Given the description of an element on the screen output the (x, y) to click on. 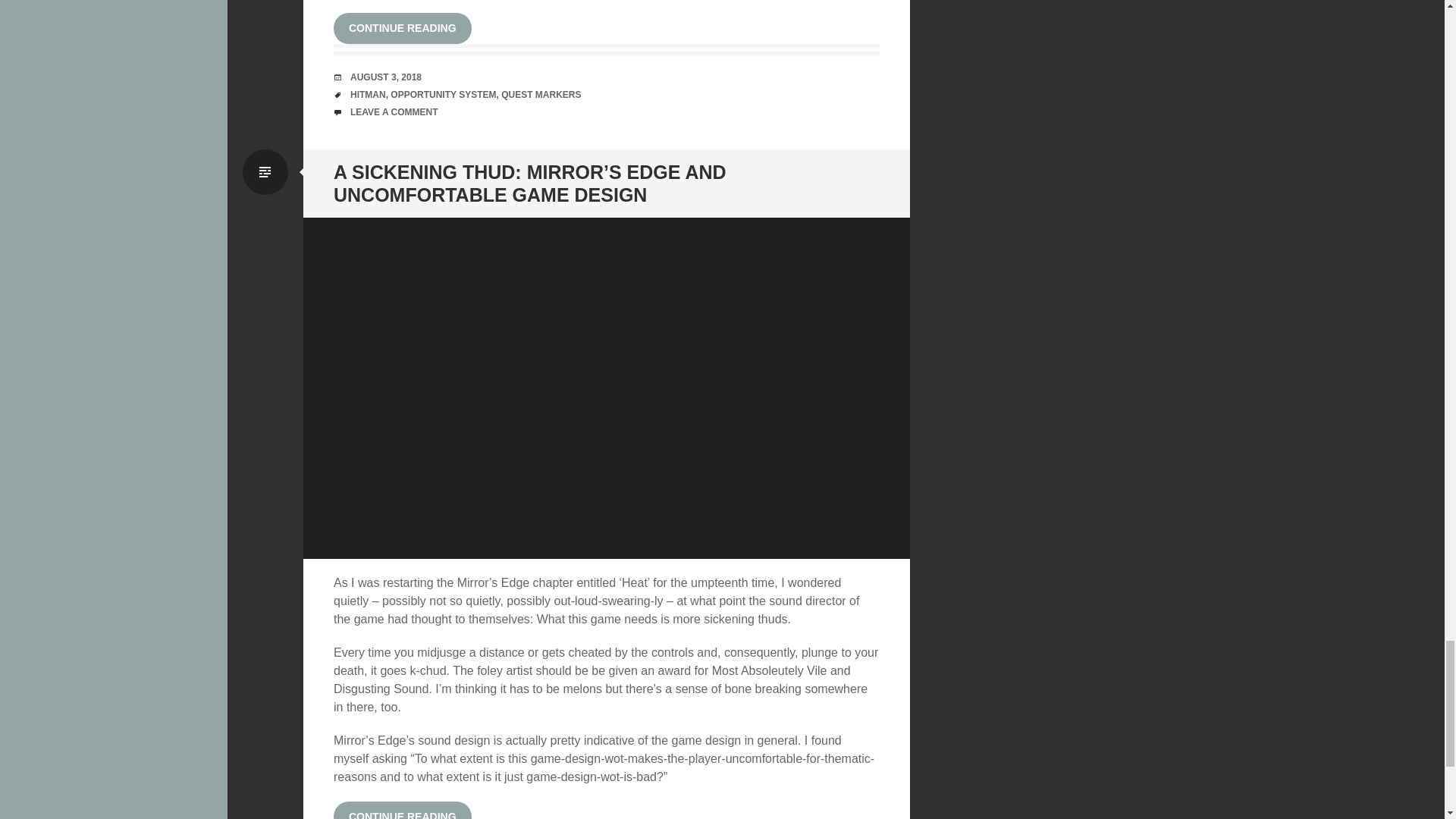
9:01 am (386, 77)
